Given the description of an element on the screen output the (x, y) to click on. 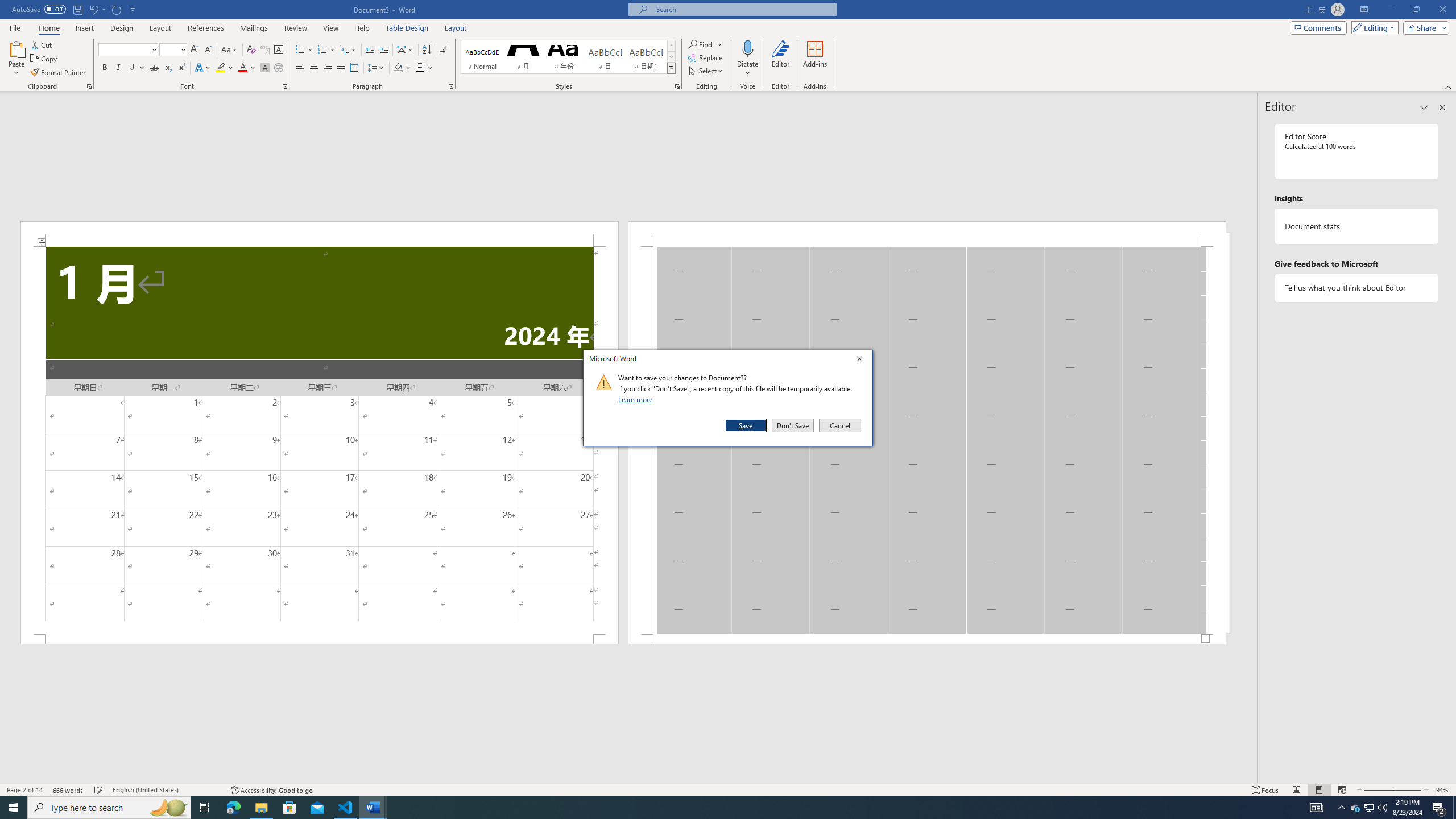
Text Highlight Color Yellow (220, 67)
File Explorer - 1 running window (261, 807)
Page Number Page 2 of 14 (24, 790)
Microsoft Edge (1368, 807)
Undo Apply Quick Style (233, 807)
Shrink Font (92, 9)
Undo Apply Quick Style (208, 49)
Microsoft search (96, 9)
Header -Section 1- (742, 9)
